Given the description of an element on the screen output the (x, y) to click on. 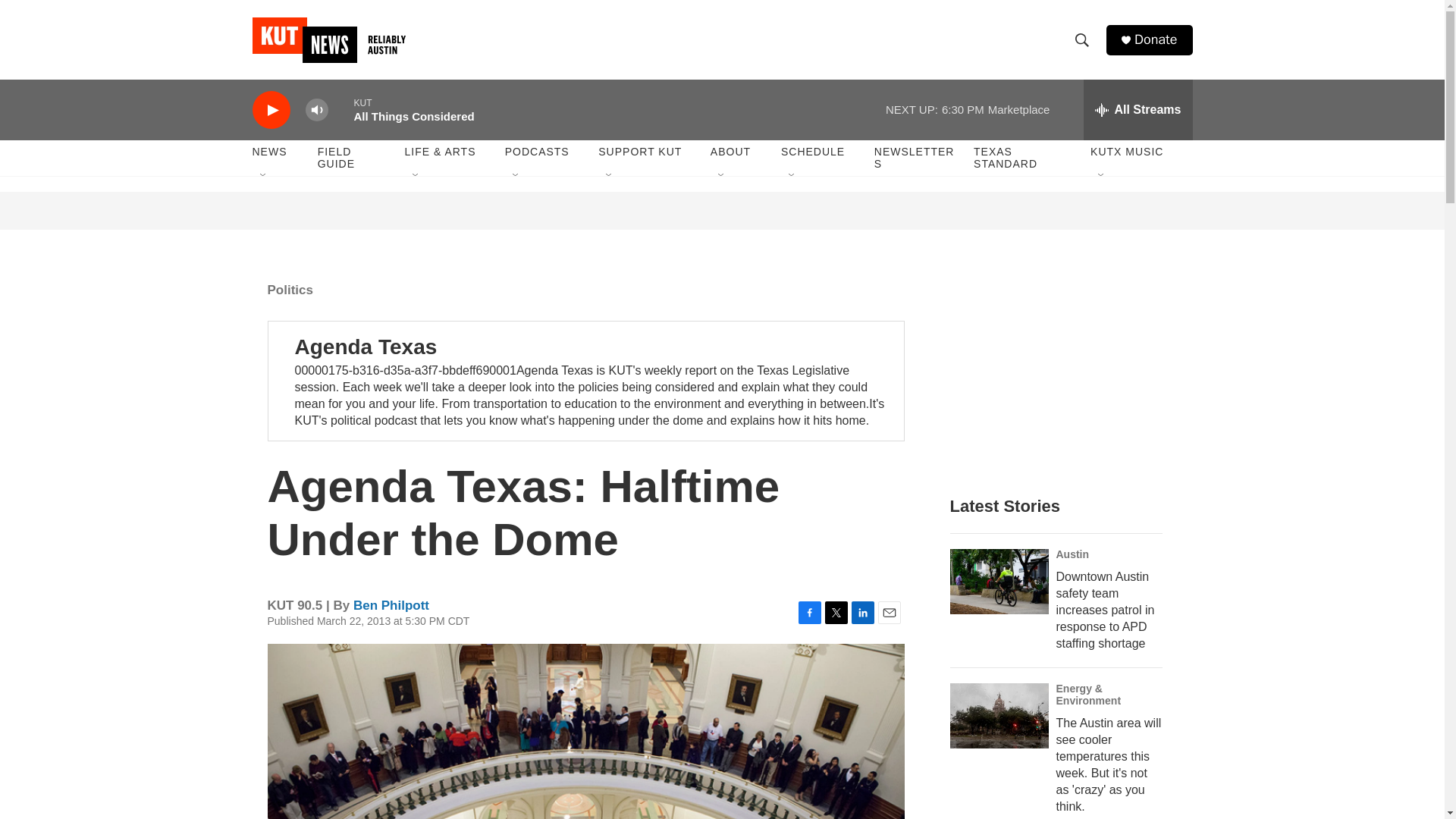
3rd party ad content (1062, 370)
3rd party ad content (722, 210)
